Given the description of an element on the screen output the (x, y) to click on. 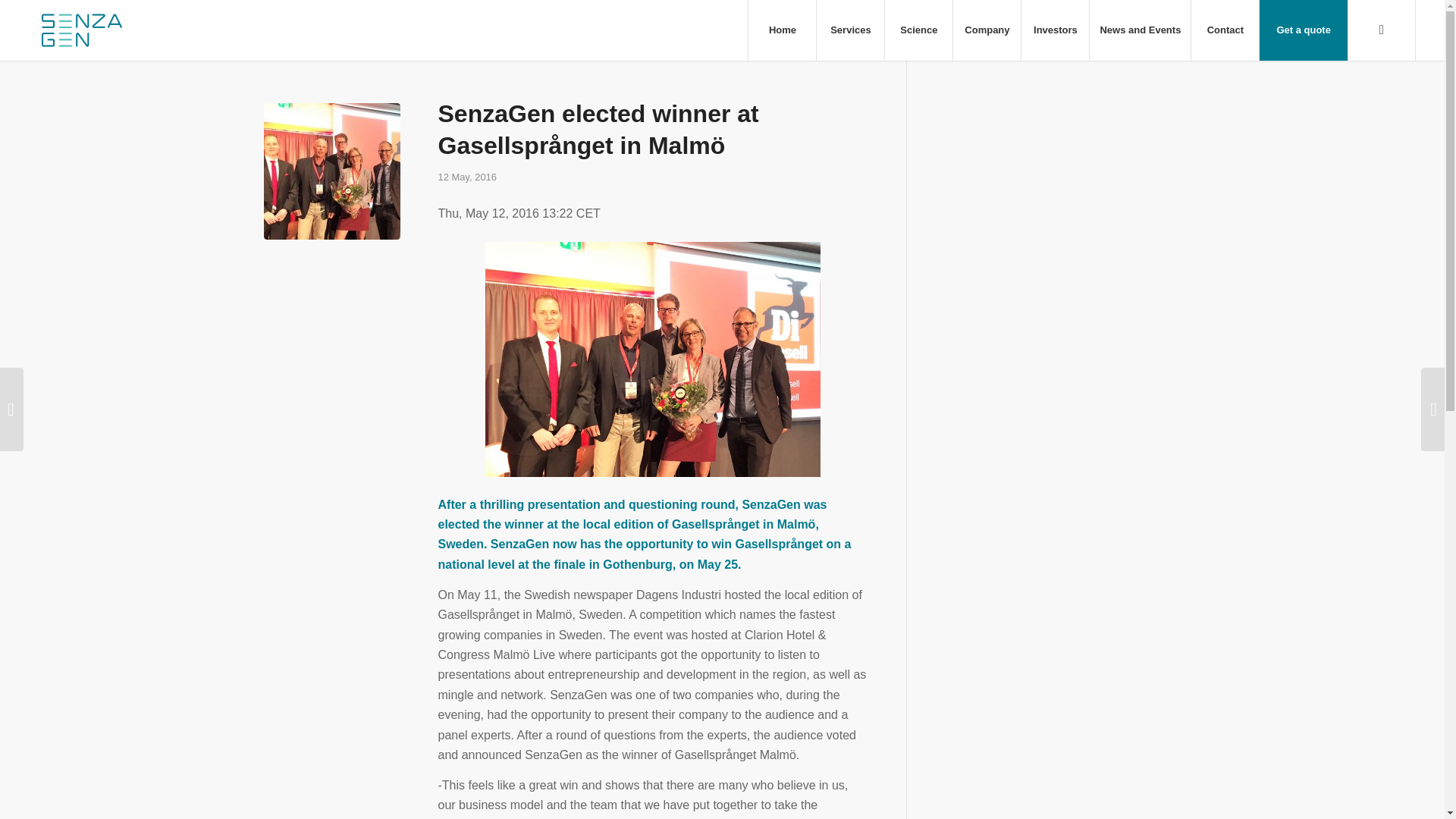
Home (781, 30)
Science (917, 30)
Company (986, 30)
cf454dde8a803c6181a6624699bf361f.jpeg (331, 171)
Investors (1054, 30)
Services (849, 30)
